Given the description of an element on the screen output the (x, y) to click on. 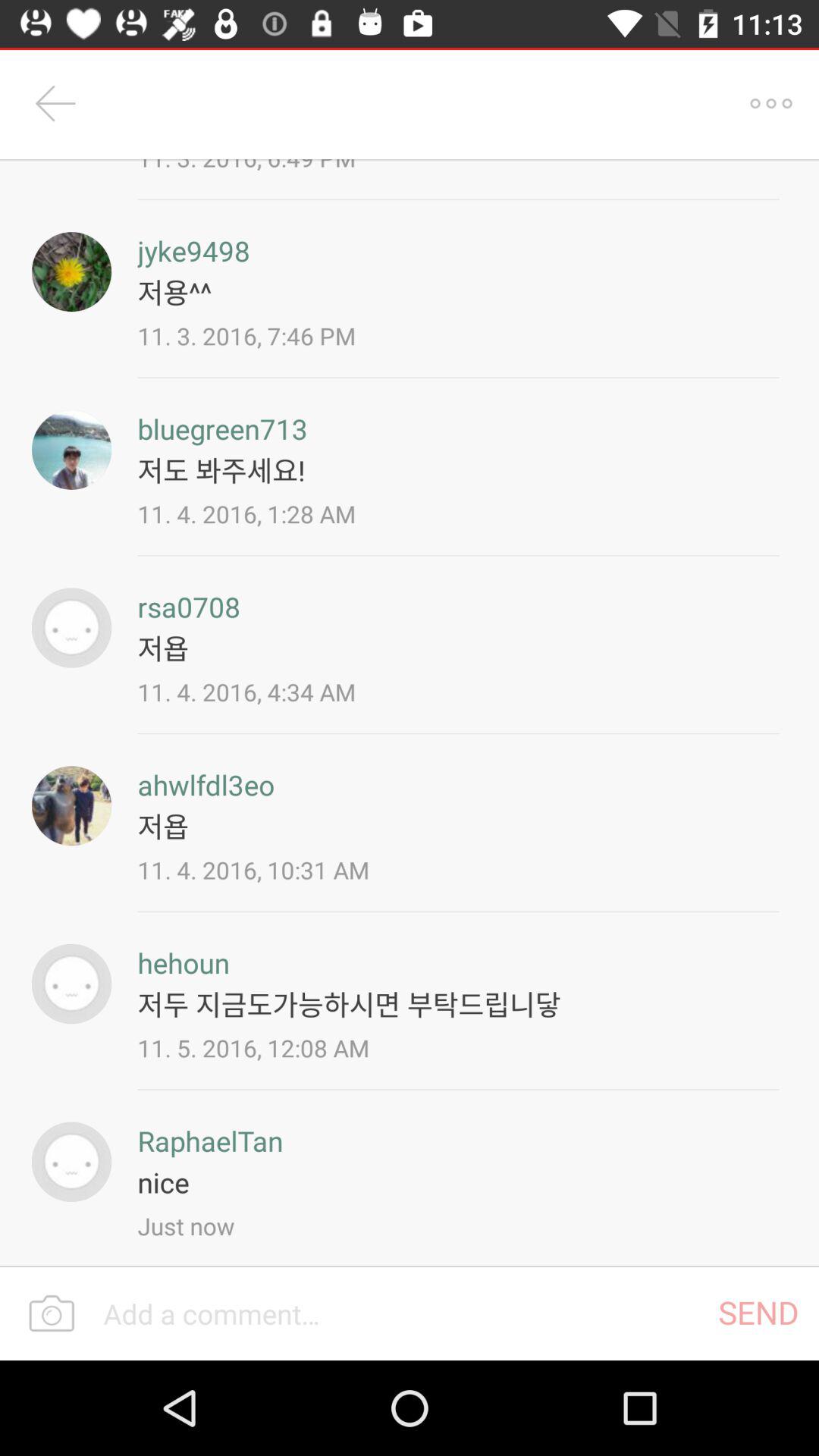
bluegreen713 (71, 449)
